Given the description of an element on the screen output the (x, y) to click on. 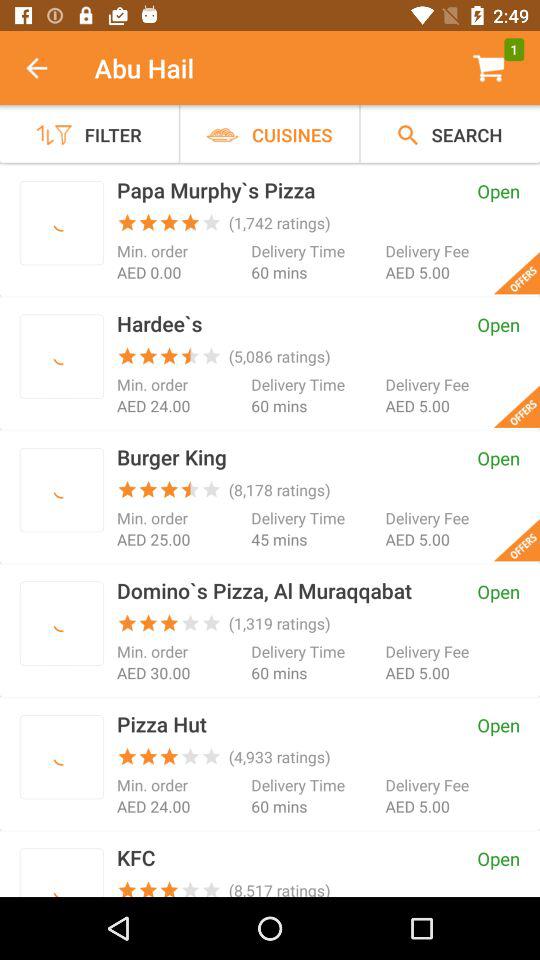
select burger king to order from (61, 489)
